Given the description of an element on the screen output the (x, y) to click on. 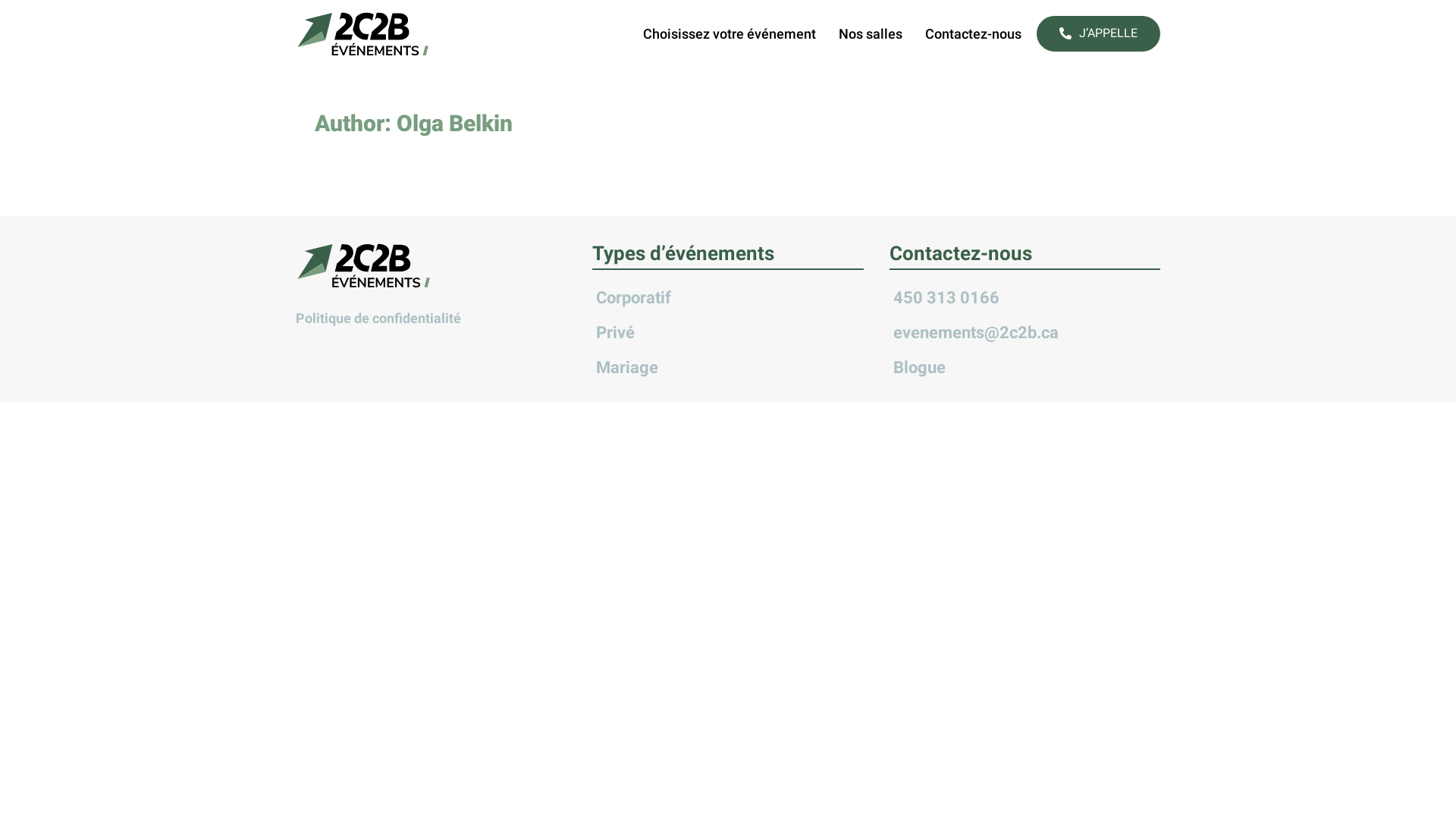
Contactez-nous Element type: text (973, 33)
Corporatif Element type: text (727, 297)
450 313 0166 Element type: text (1024, 297)
evenements@2c2b.ca Element type: text (1024, 332)
Blogue Element type: text (1024, 366)
Nos salles Element type: text (870, 33)
Mariage Element type: text (727, 366)
